Given the description of an element on the screen output the (x, y) to click on. 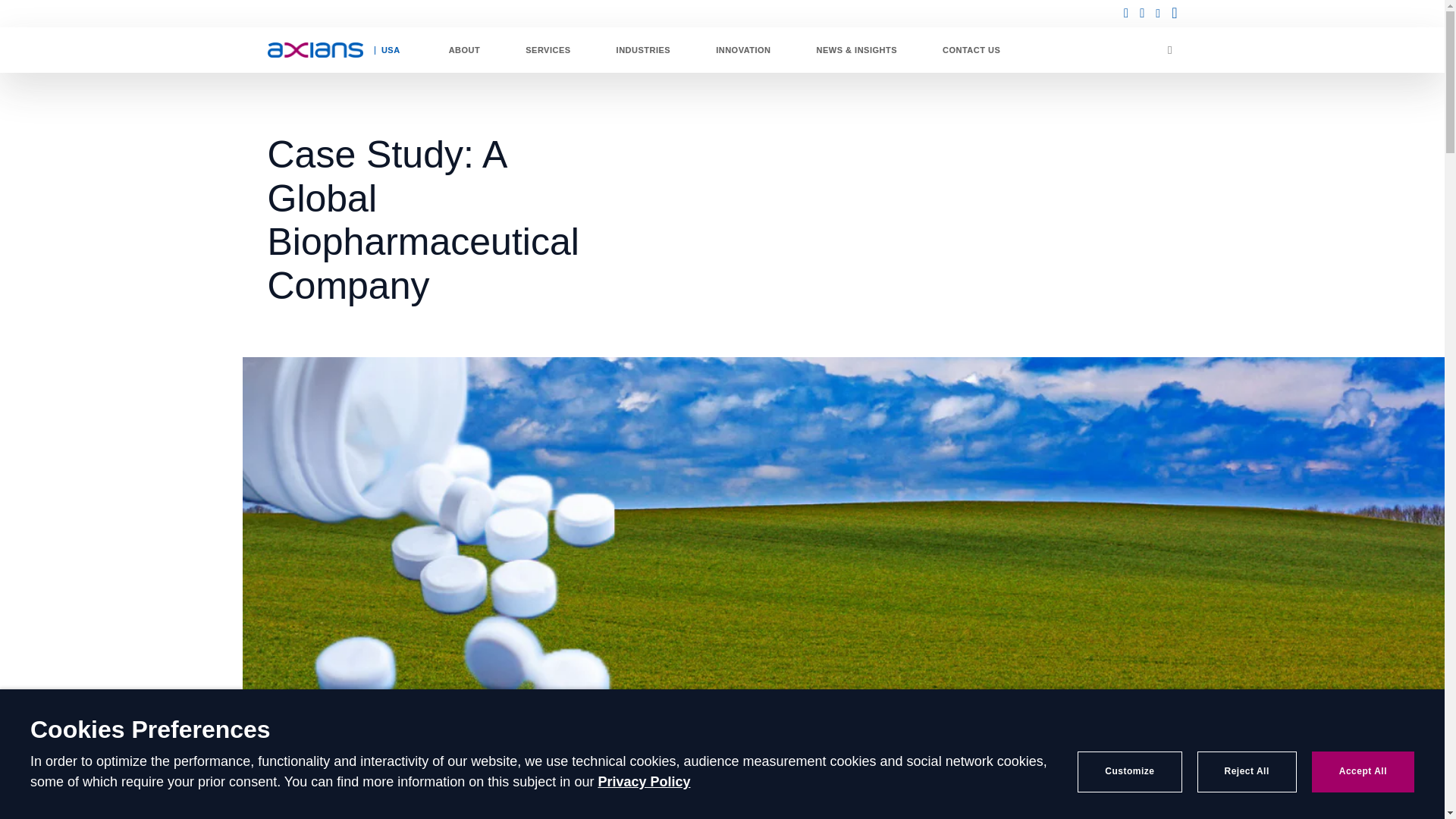
INNOVATION (742, 49)
ABOUT (464, 49)
SERVICES (548, 49)
CONTACT US (970, 49)
INDUSTRIES (643, 49)
Search (1159, 134)
